Given the description of an element on the screen output the (x, y) to click on. 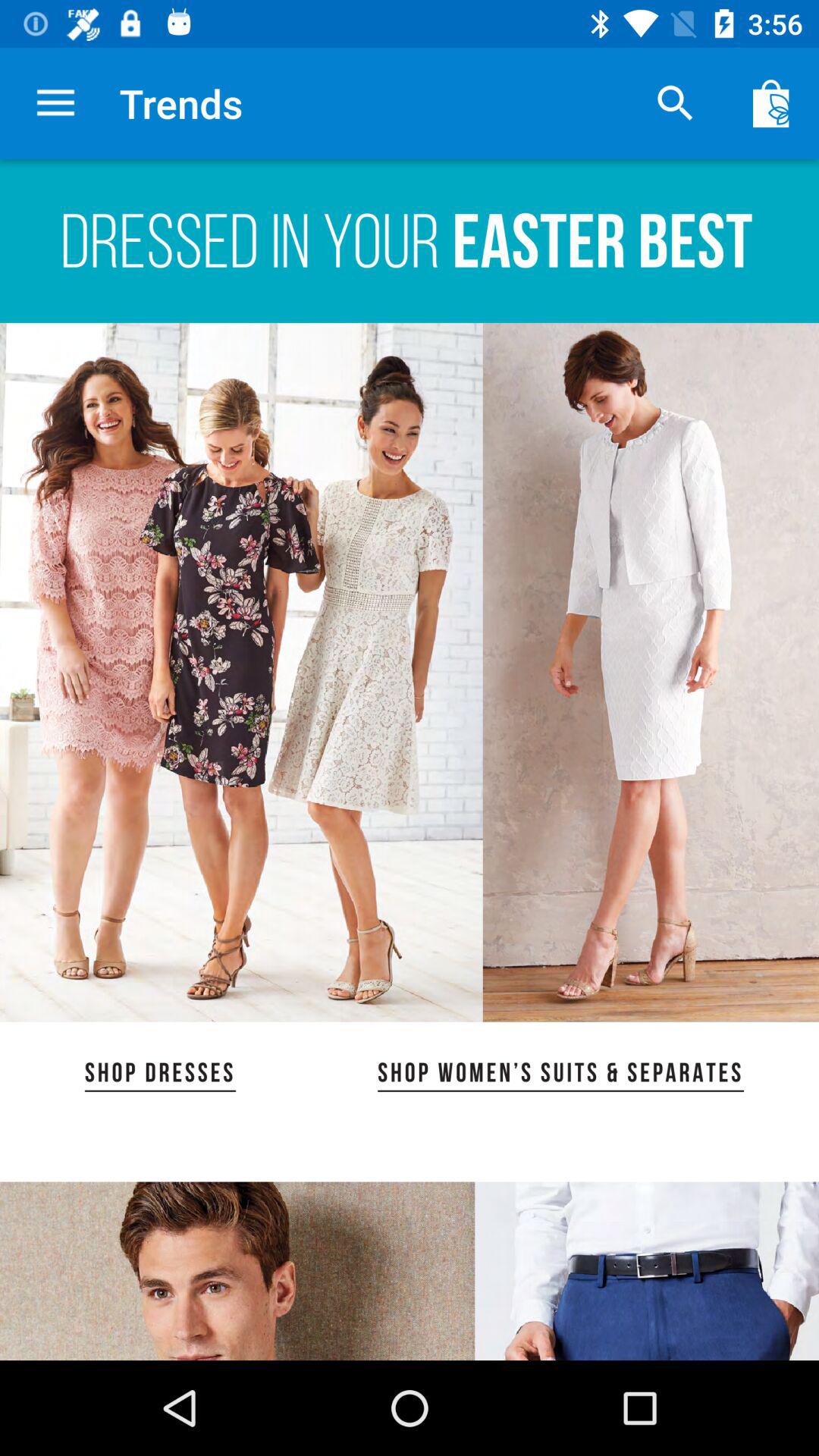
open item next to trends item (675, 103)
